Given the description of an element on the screen output the (x, y) to click on. 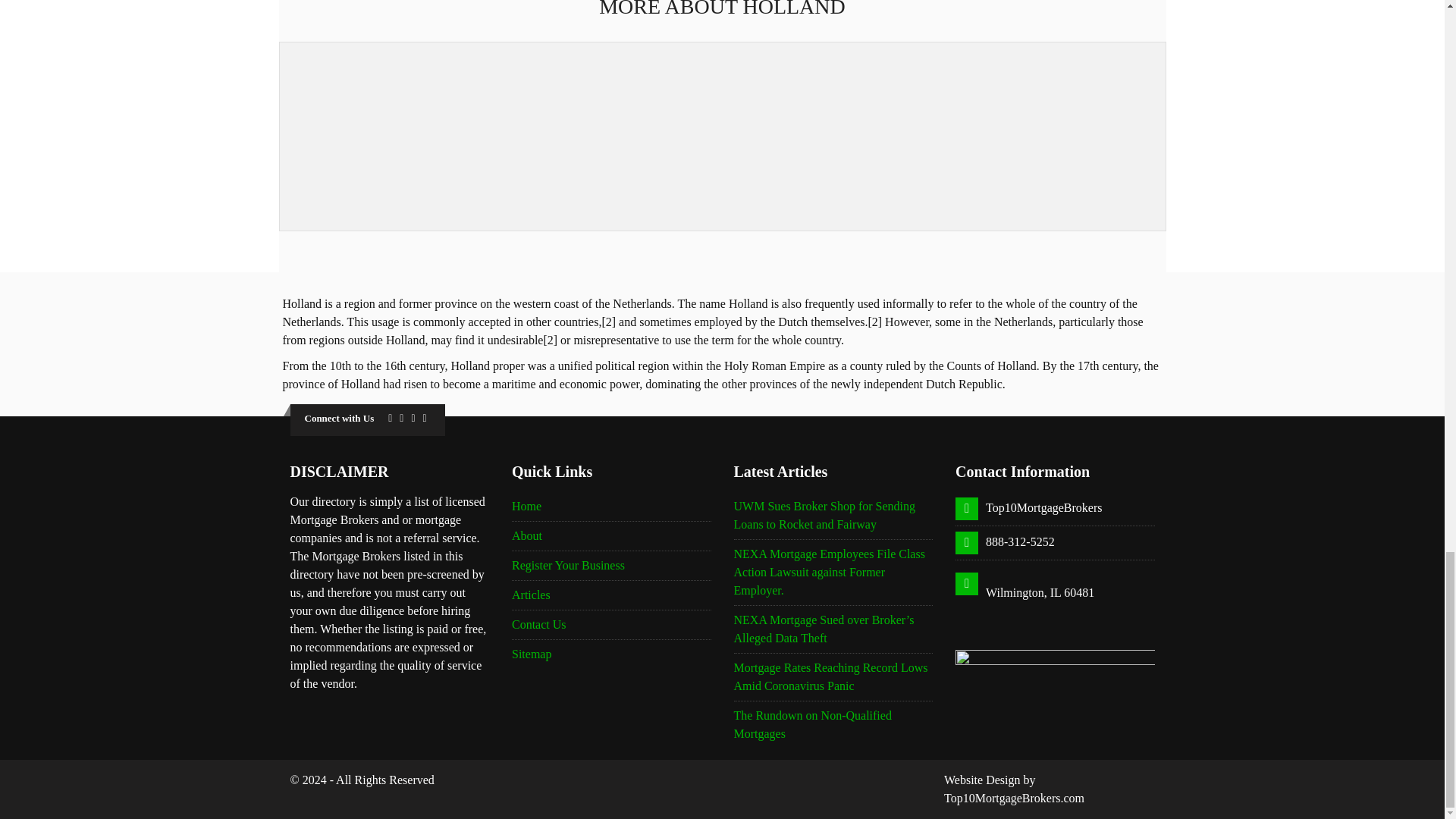
About (526, 535)
Register Your Business (568, 564)
Articles (531, 594)
Home (526, 505)
